Given the description of an element on the screen output the (x, y) to click on. 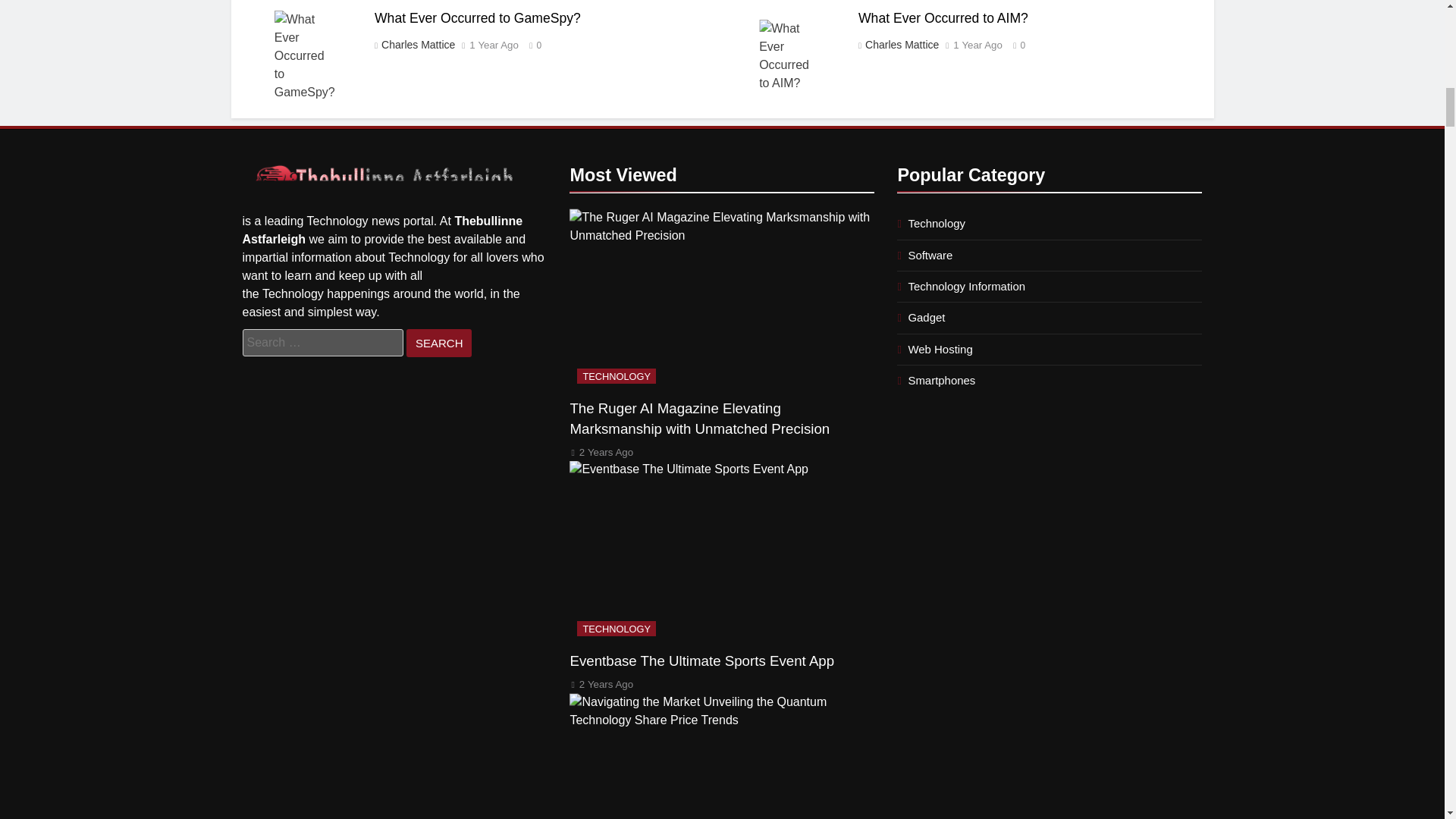
Search (438, 343)
Search (438, 343)
